Given the description of an element on the screen output the (x, y) to click on. 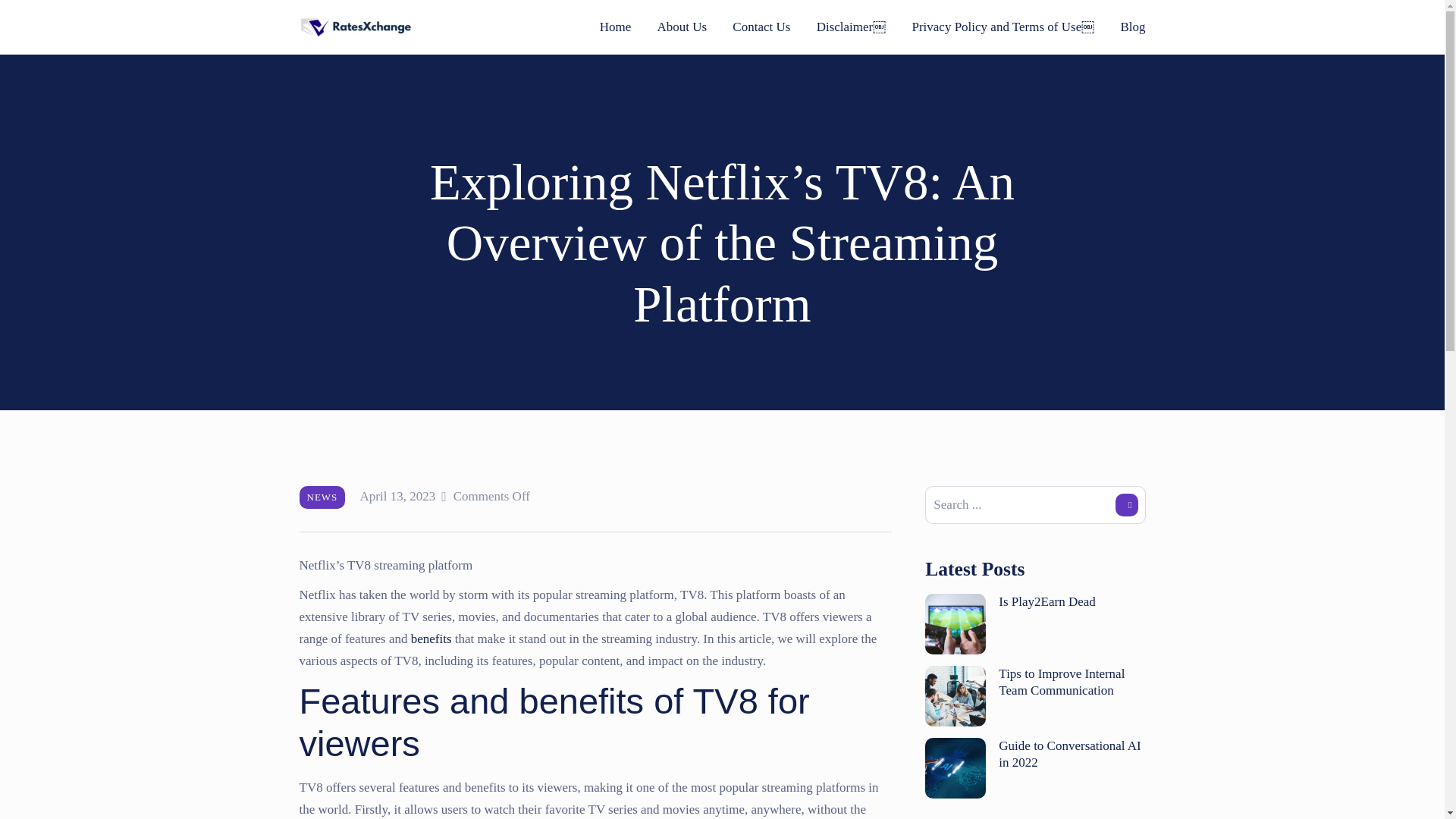
benefits (430, 638)
Home (615, 26)
NEWS (321, 496)
RatesXchange (355, 27)
Guide to Conversational AI in 2022 (1069, 753)
Blog (1132, 26)
About Us (681, 26)
Tips to Improve Internal Team Communication (1061, 681)
Contact Us (761, 26)
Search (1126, 504)
Is Play2Earn Dead (1046, 601)
